Given the description of an element on the screen output the (x, y) to click on. 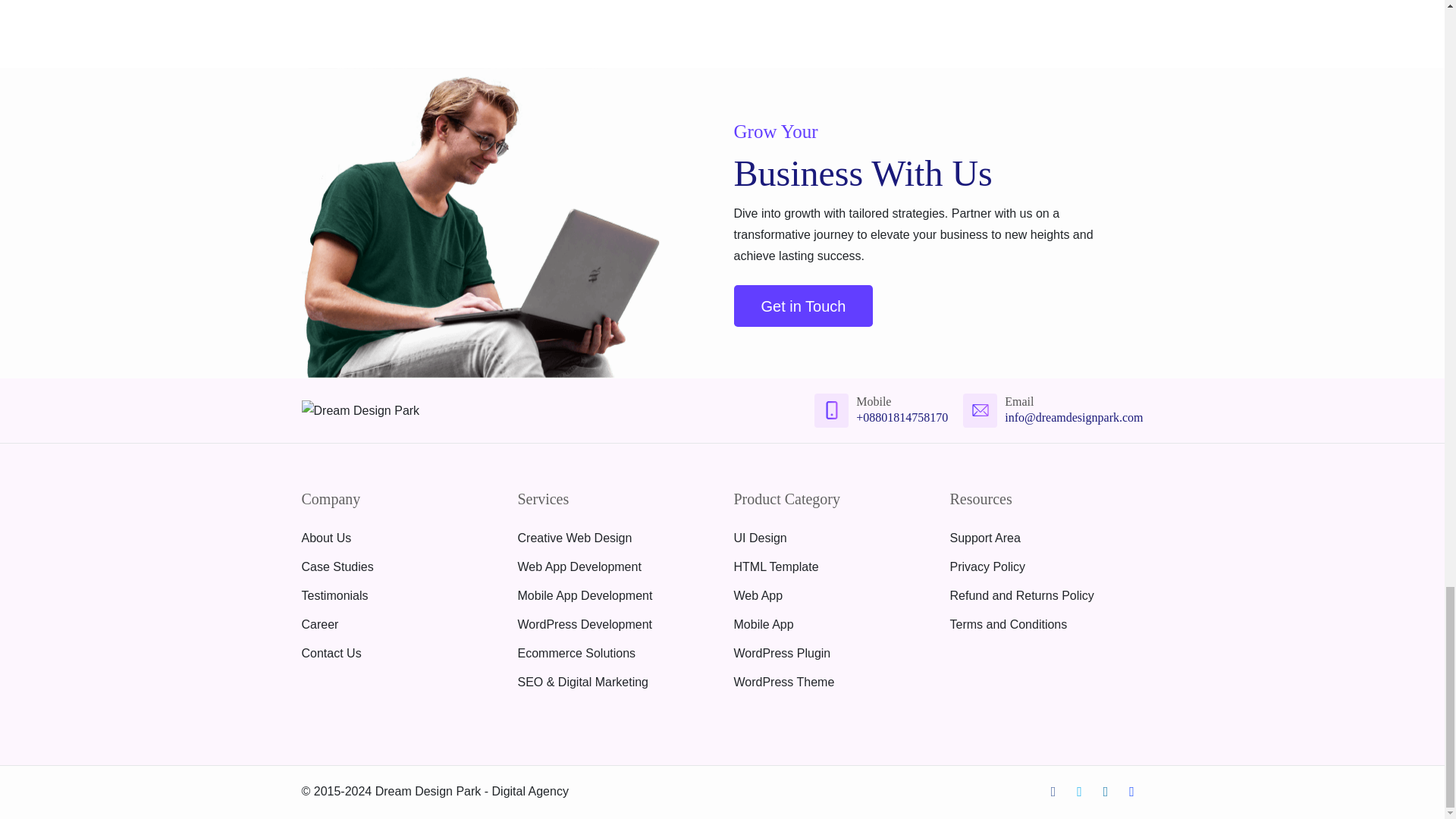
LinkedIn (1105, 792)
Behance (1131, 792)
Facebook (1053, 792)
Twitter (1079, 792)
Dream Design Park (360, 410)
